Given the description of an element on the screen output the (x, y) to click on. 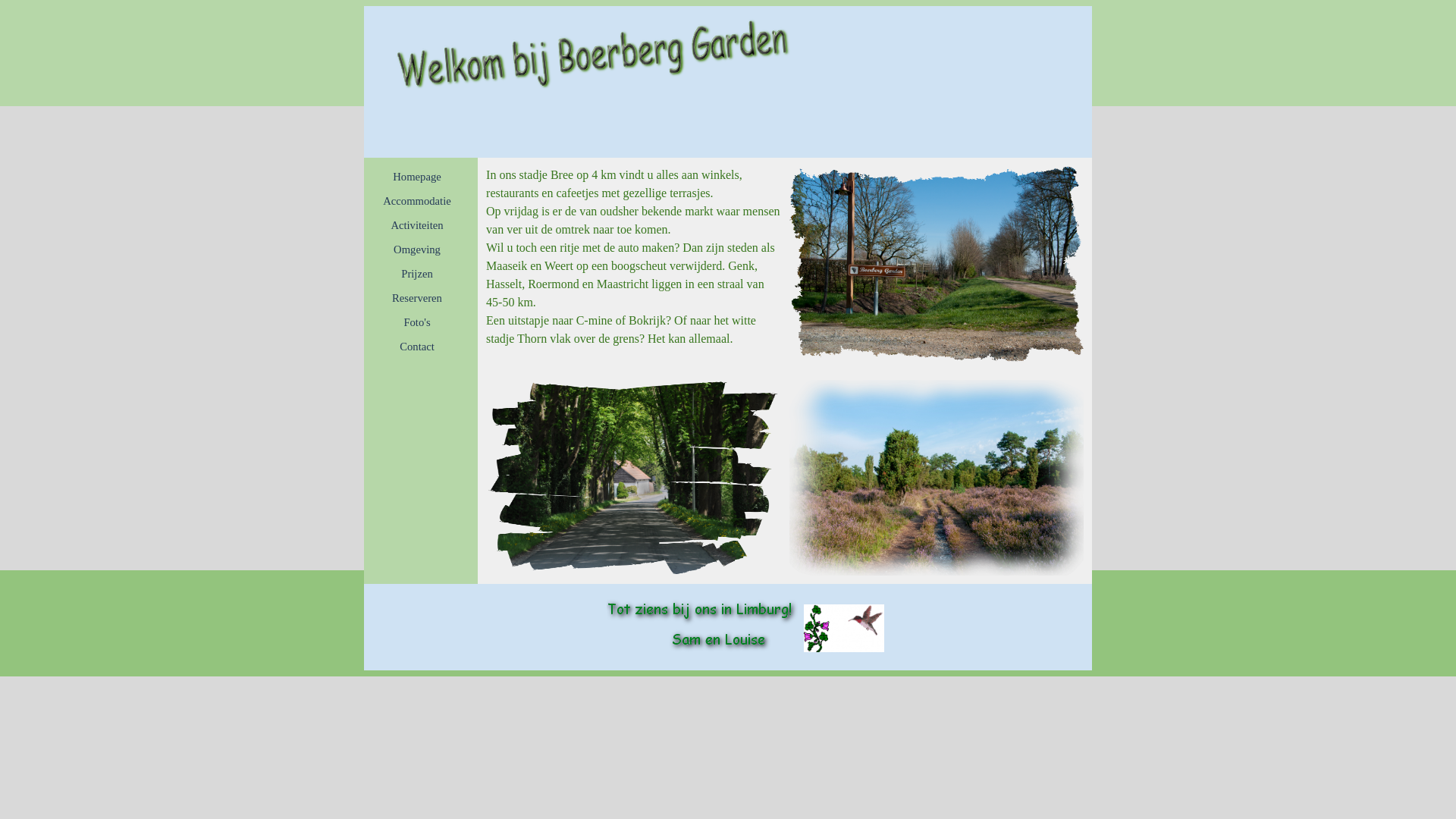
Activiteiten Element type: text (416, 224)
Contact Element type: text (416, 346)
Foto's Element type: text (416, 321)
Accommodatie Element type: text (416, 200)
Homepage Element type: text (416, 176)
Omgeving Element type: text (416, 249)
Prijzen Element type: text (416, 273)
Reserveren Element type: text (416, 297)
